Given the description of an element on the screen output the (x, y) to click on. 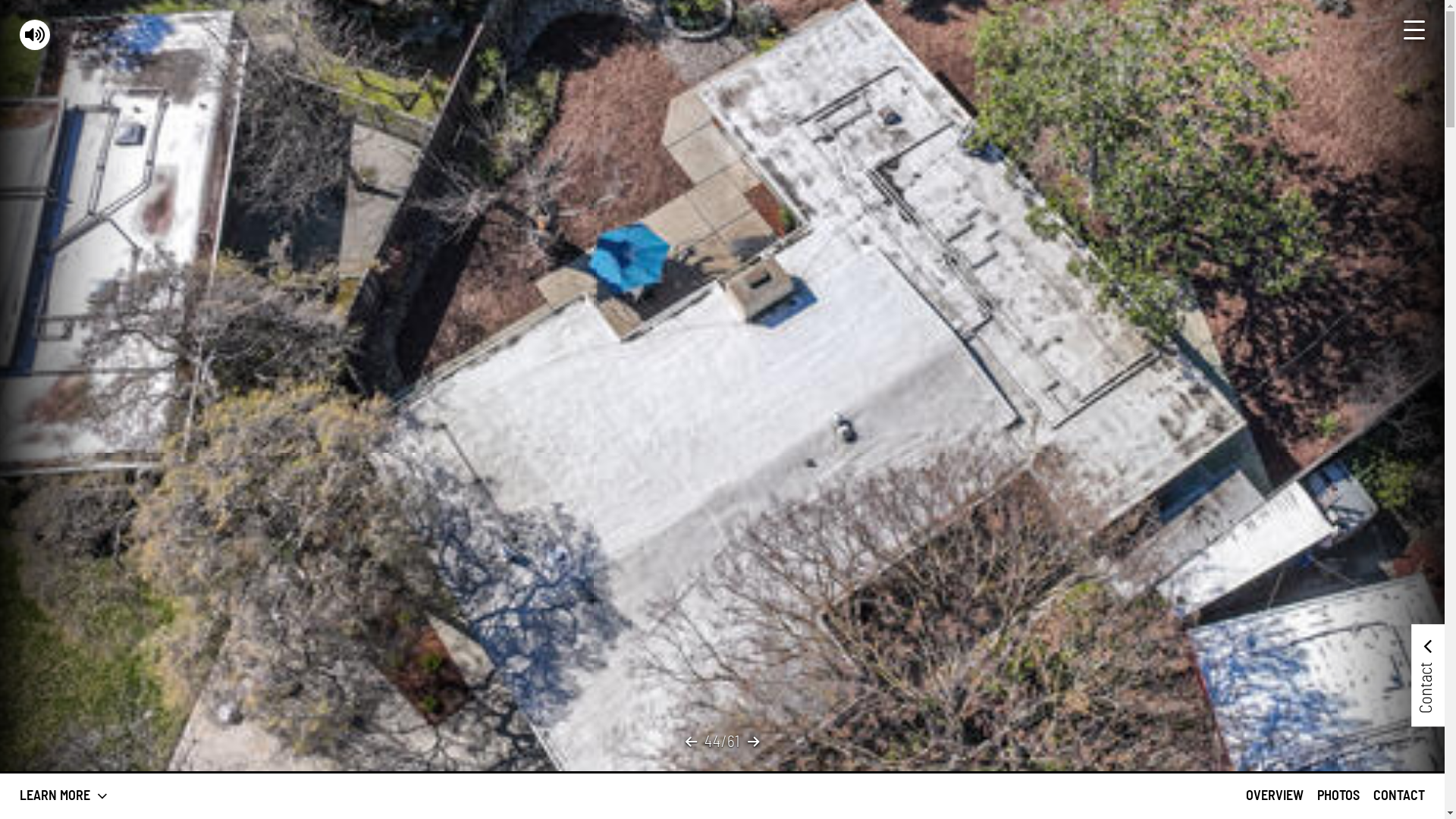
PHOTOS Element type: text (1338, 796)
OVERVIEW Element type: text (1274, 796)
CONTACT Element type: text (1398, 796)
